Given the description of an element on the screen output the (x, y) to click on. 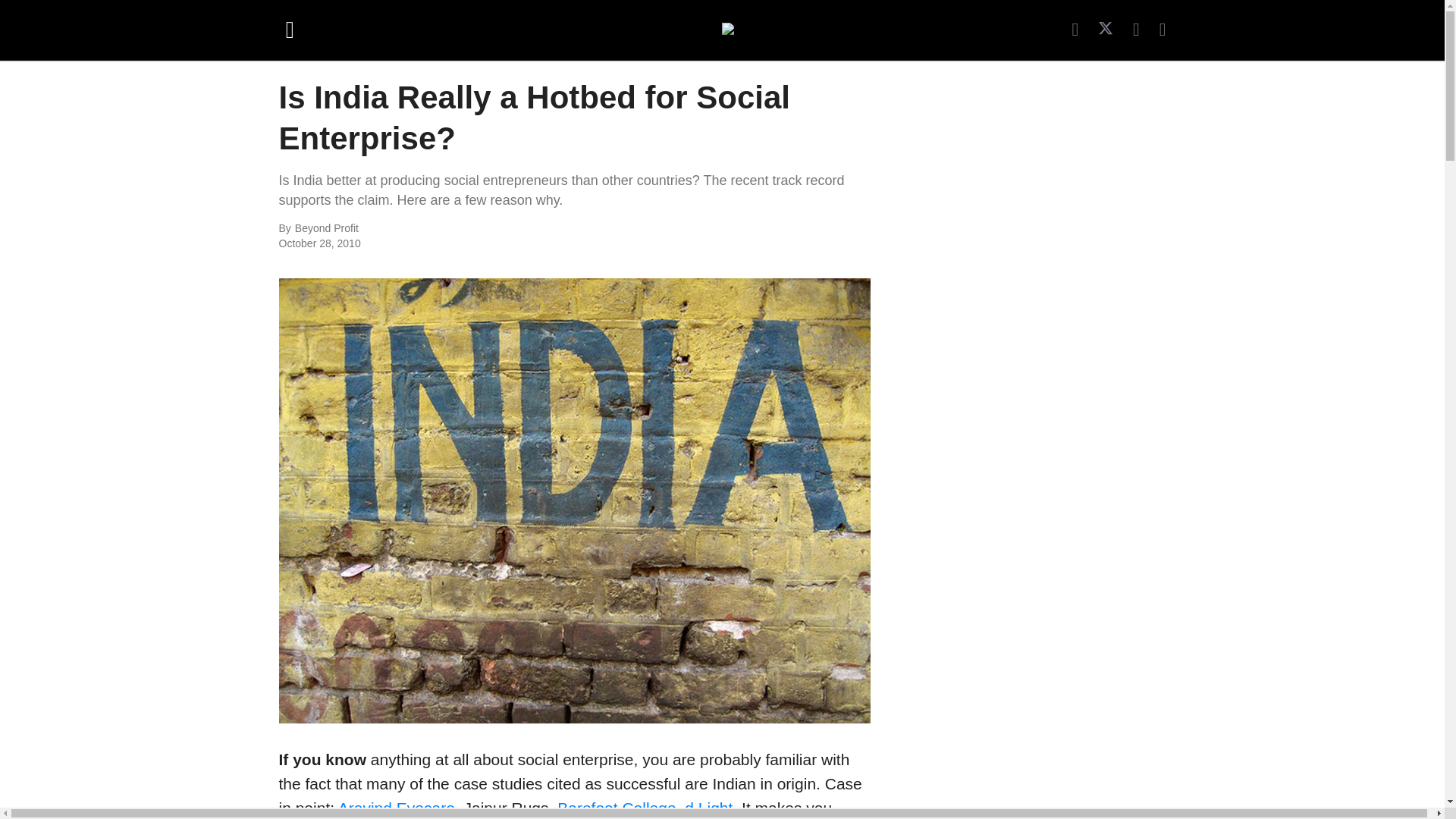
Beyond Profit (459, 228)
Aravind Eyecare (395, 807)
Barefoot College (616, 807)
d.Light (708, 807)
